Given the description of an element on the screen output the (x, y) to click on. 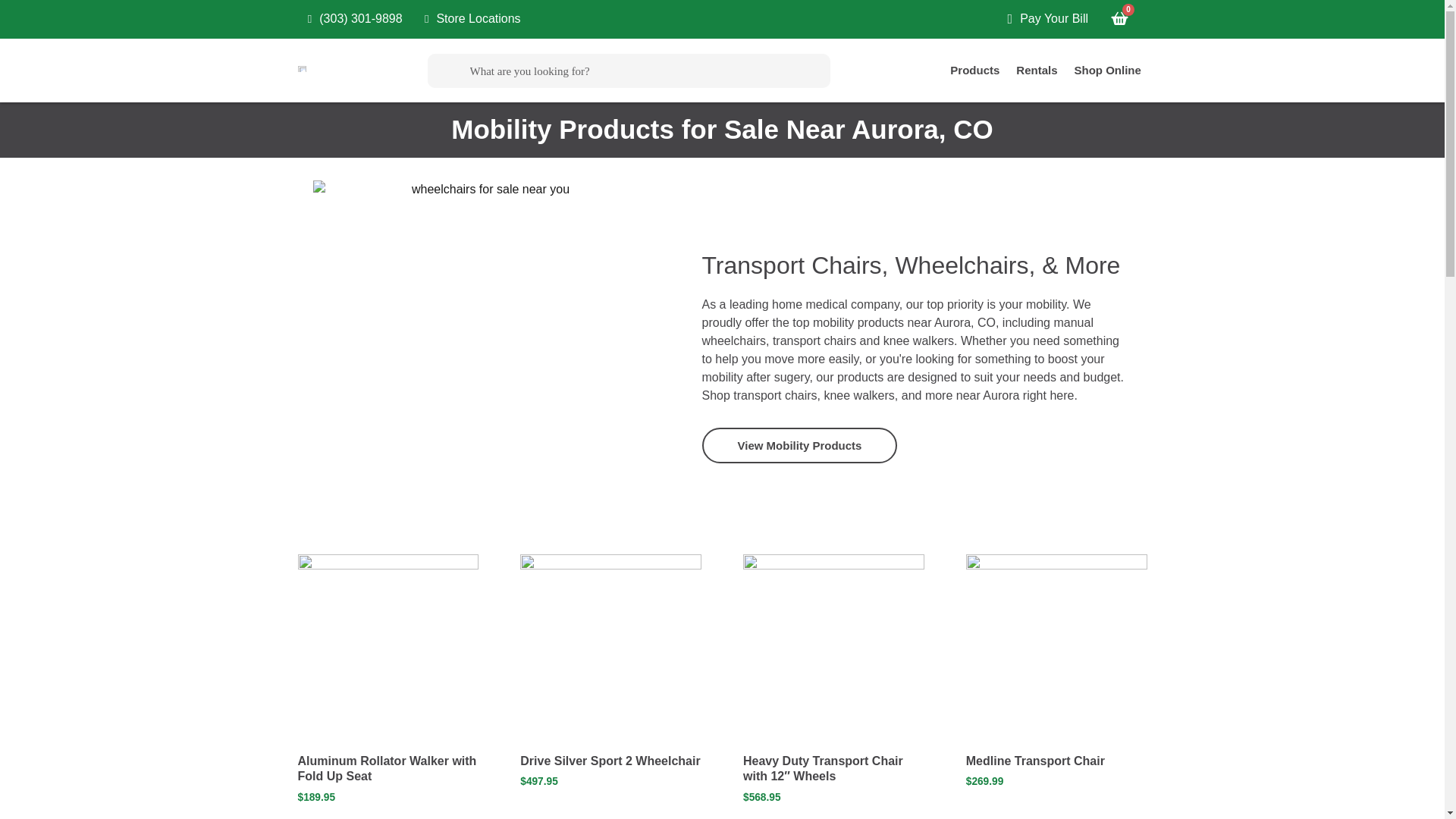
0 (1119, 19)
Store Locations (467, 19)
Products (974, 70)
Pay Your Bill (1041, 19)
Rentals (1036, 70)
